Given the description of an element on the screen output the (x, y) to click on. 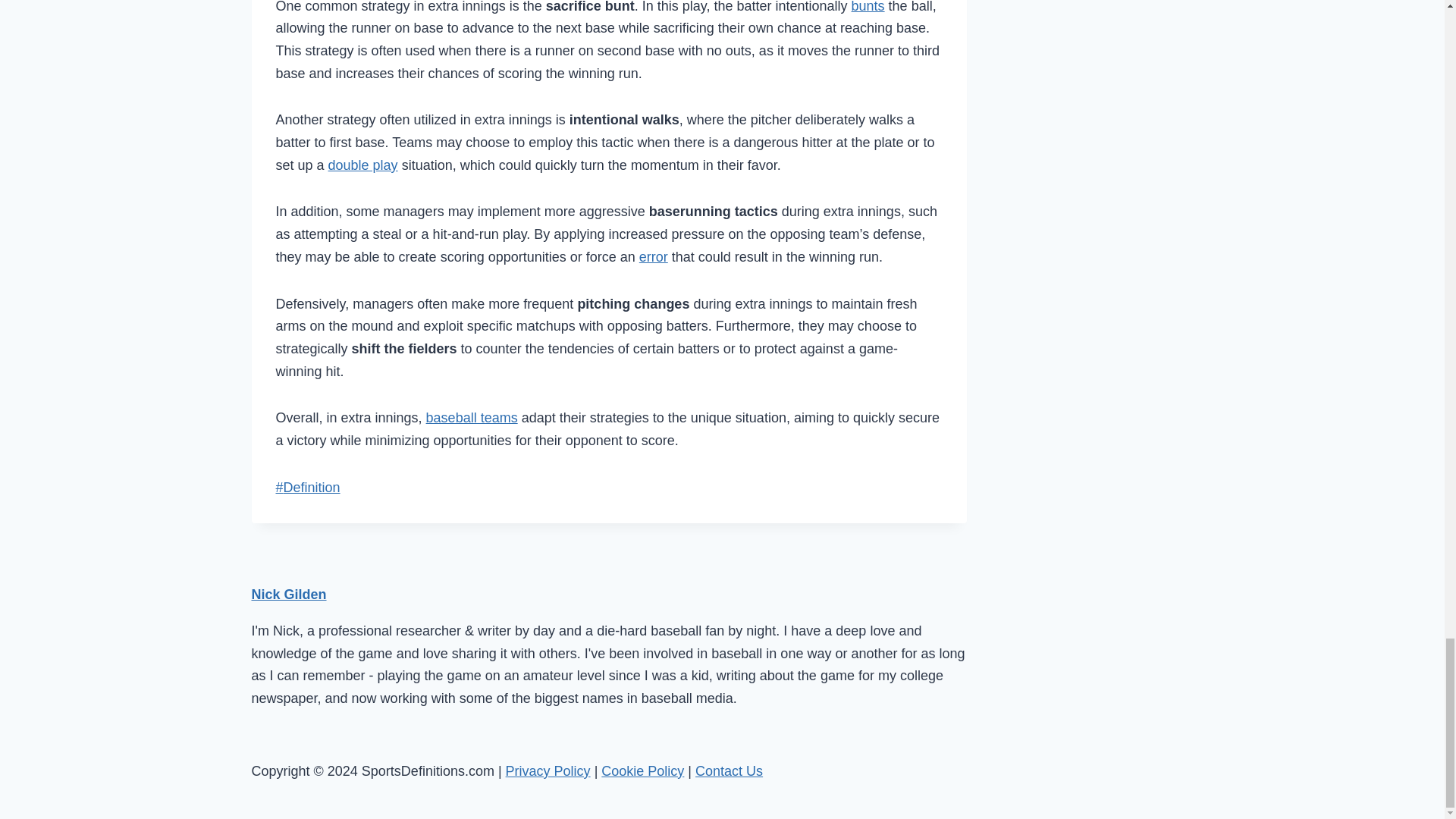
Posts by Nick Gilden (288, 594)
double play (363, 165)
error (653, 256)
baseball teams (472, 417)
Nick Gilden (288, 594)
bunts (868, 6)
Definition (308, 487)
